Given the description of an element on the screen output the (x, y) to click on. 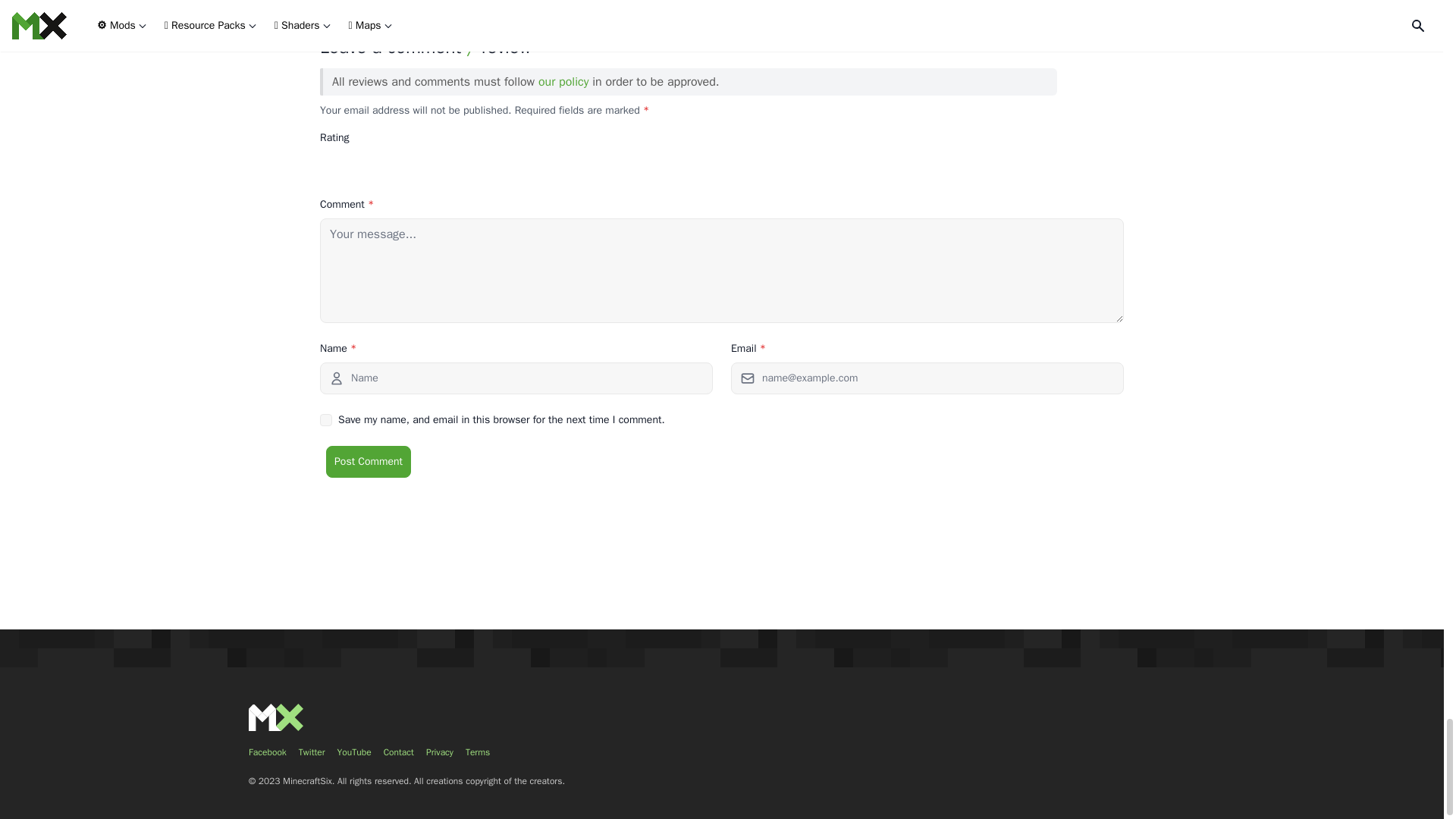
MinecraftSix (275, 717)
yes (325, 419)
Post Comment (368, 461)
